Given the description of an element on the screen output the (x, y) to click on. 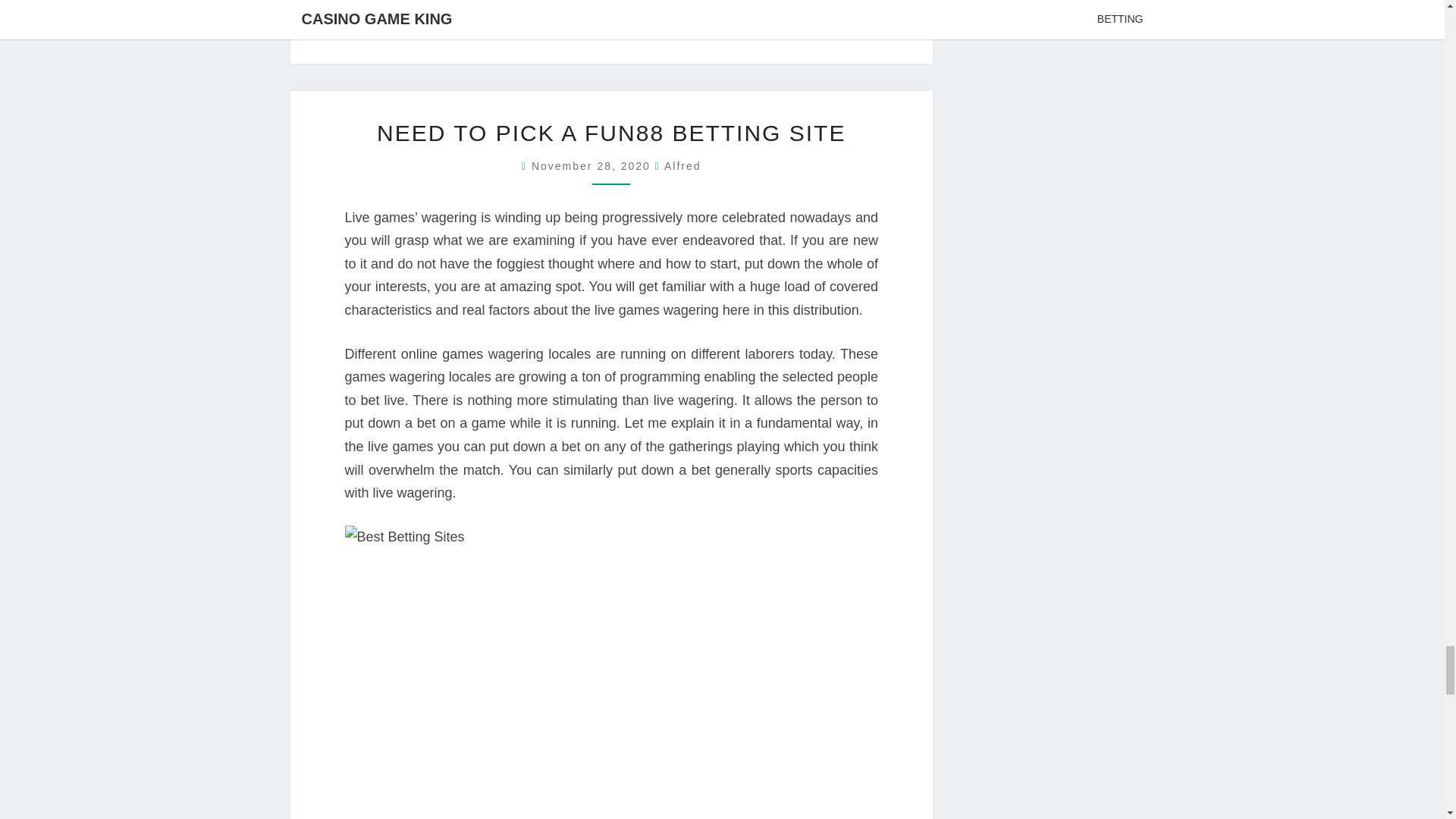
NEED TO PICK A FUN88 BETTING SITE (611, 132)
November 28, 2020 (593, 165)
5:19 am (593, 165)
